Given the description of an element on the screen output the (x, y) to click on. 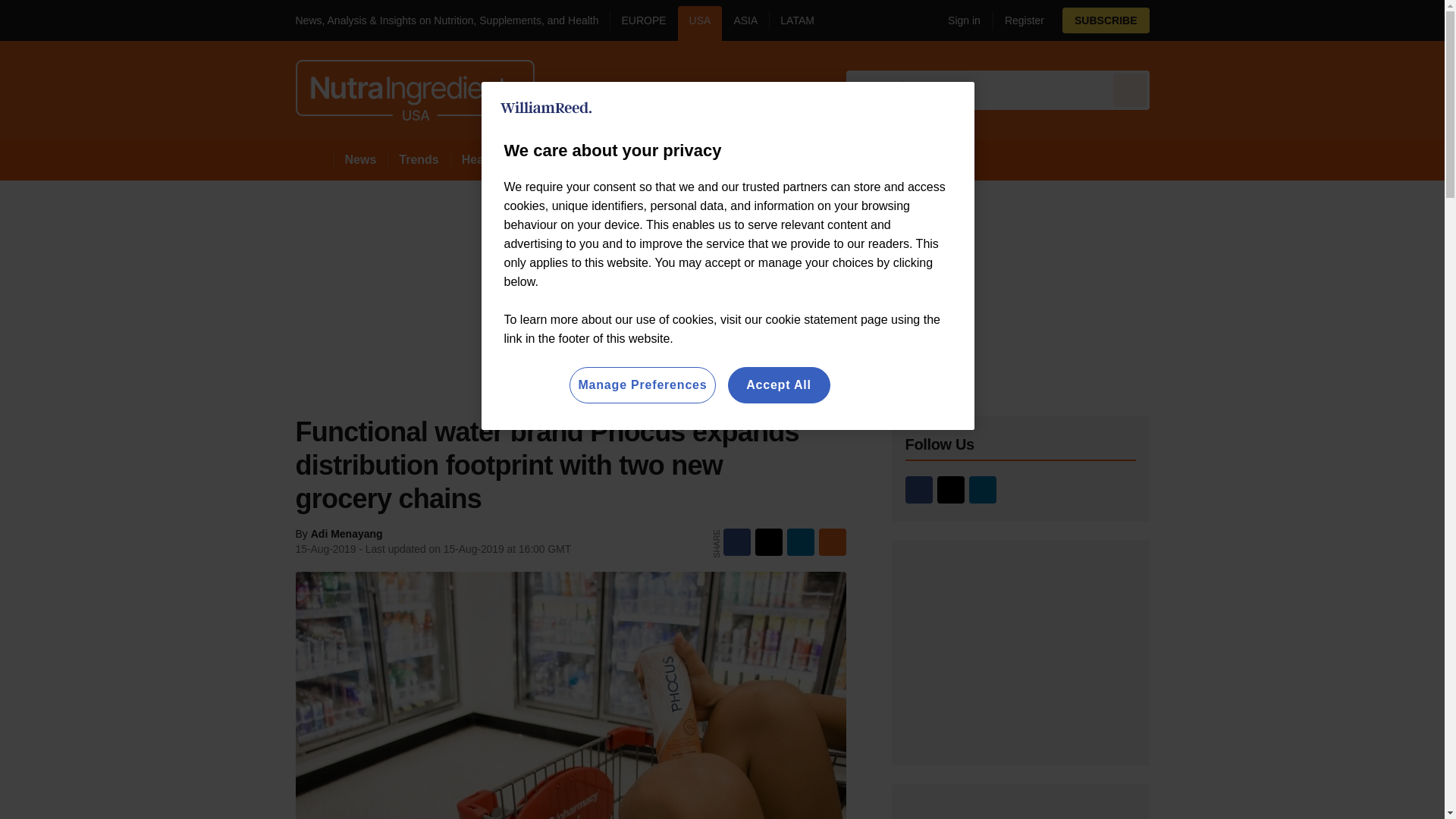
3rd party ad content (1020, 652)
3rd party ad content (1020, 810)
My account (1042, 20)
LATAM (796, 22)
Home (313, 159)
Trends (418, 159)
Send (1129, 90)
EUROPE (643, 22)
SUBSCRIBE (1105, 20)
Register (1017, 20)
SUBSCRIBE (1148, 20)
USA (700, 22)
ASIA (745, 22)
William Reed (545, 107)
